Given the description of an element on the screen output the (x, y) to click on. 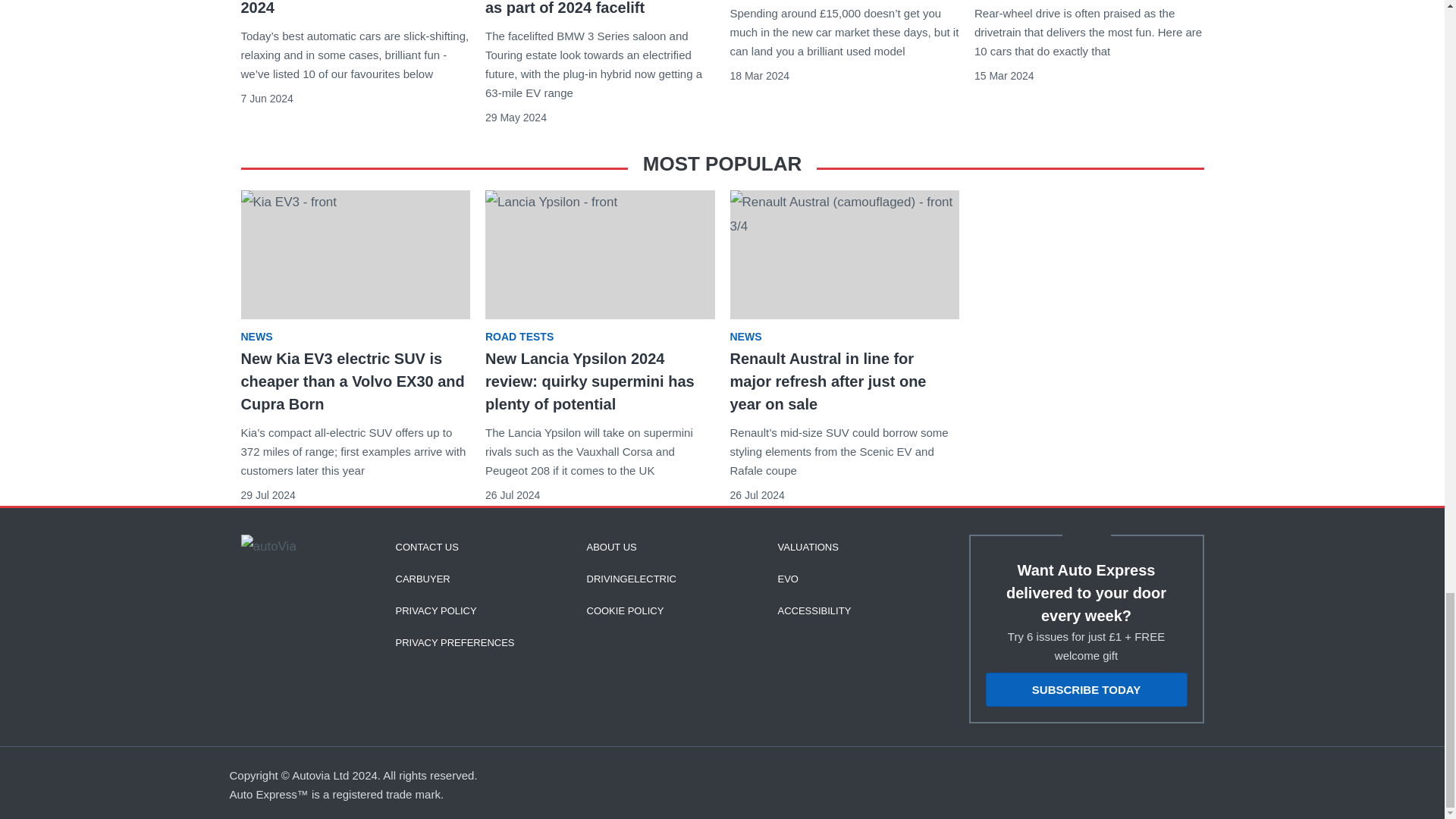
SUBSCRIBE TODAY (1086, 689)
